Given the description of an element on the screen output the (x, y) to click on. 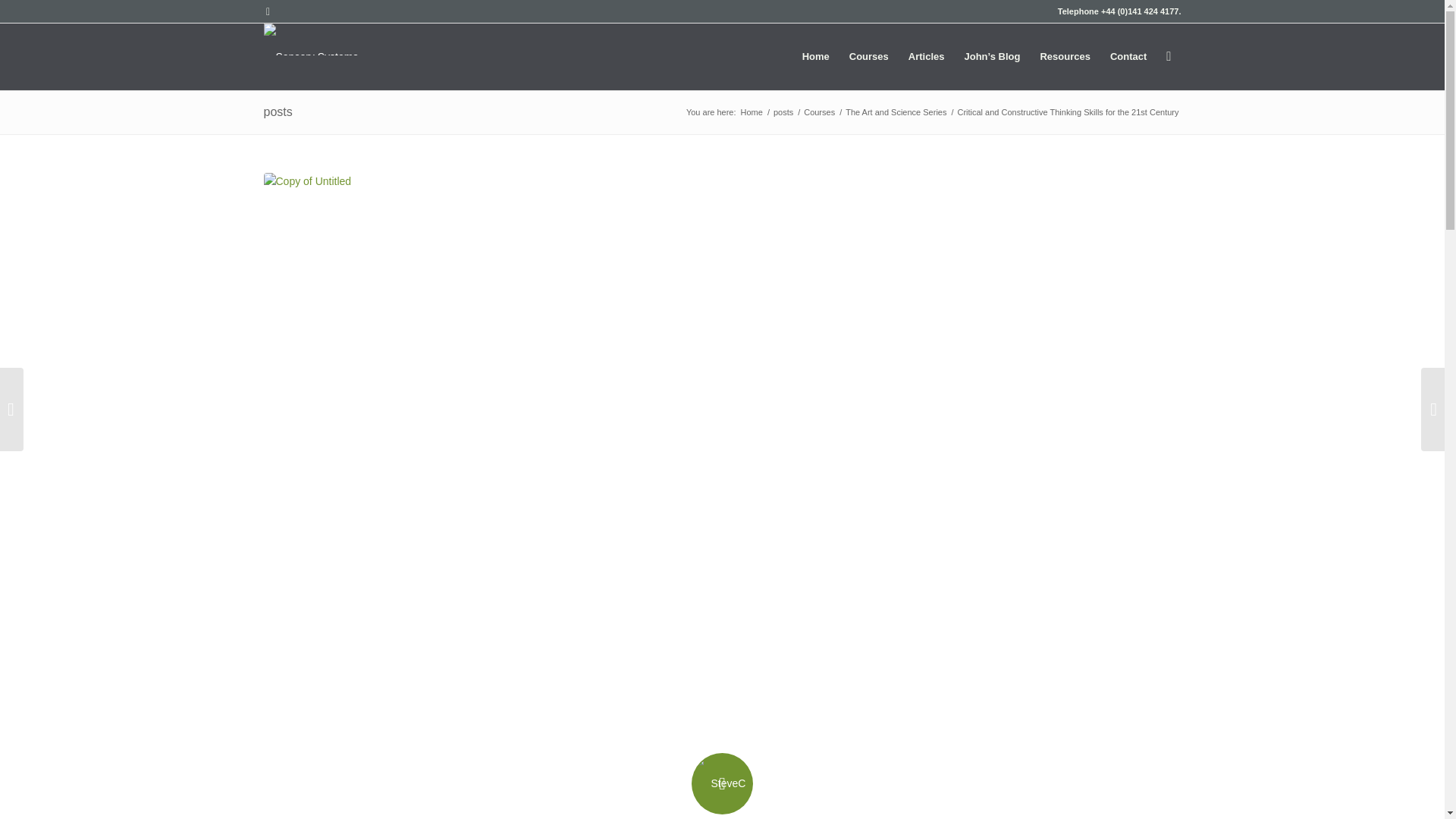
Resources (1064, 56)
Courses (819, 112)
Facebook (267, 11)
posts (277, 111)
DBMLOGOSmalltransparen (310, 39)
posts (782, 112)
DBMLOGOSmalltransparen (310, 56)
posts (782, 112)
Permanent Link: posts (277, 111)
